Given the description of an element on the screen output the (x, y) to click on. 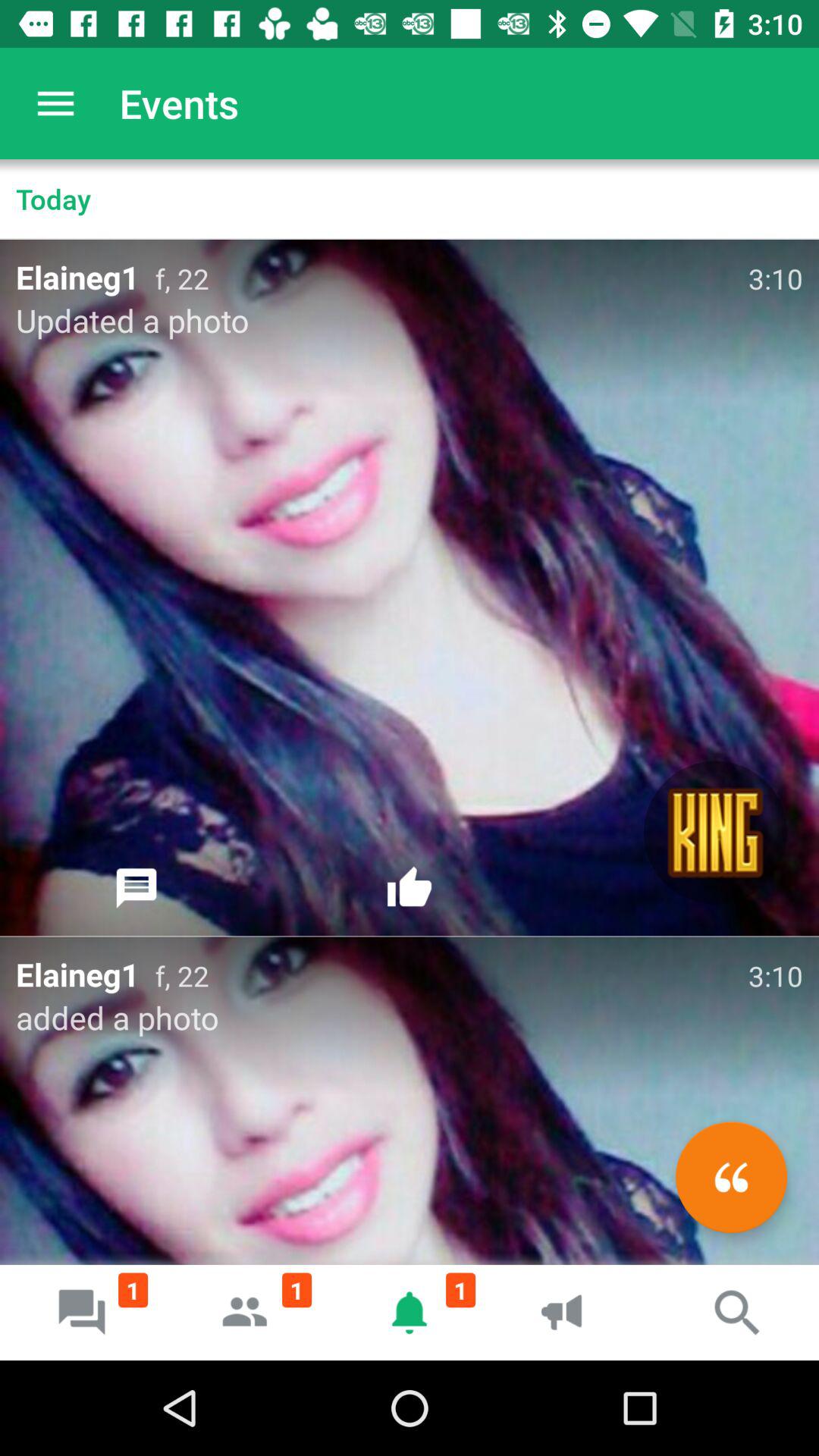
tap the icon below updated a photo item (136, 888)
